Given the description of an element on the screen output the (x, y) to click on. 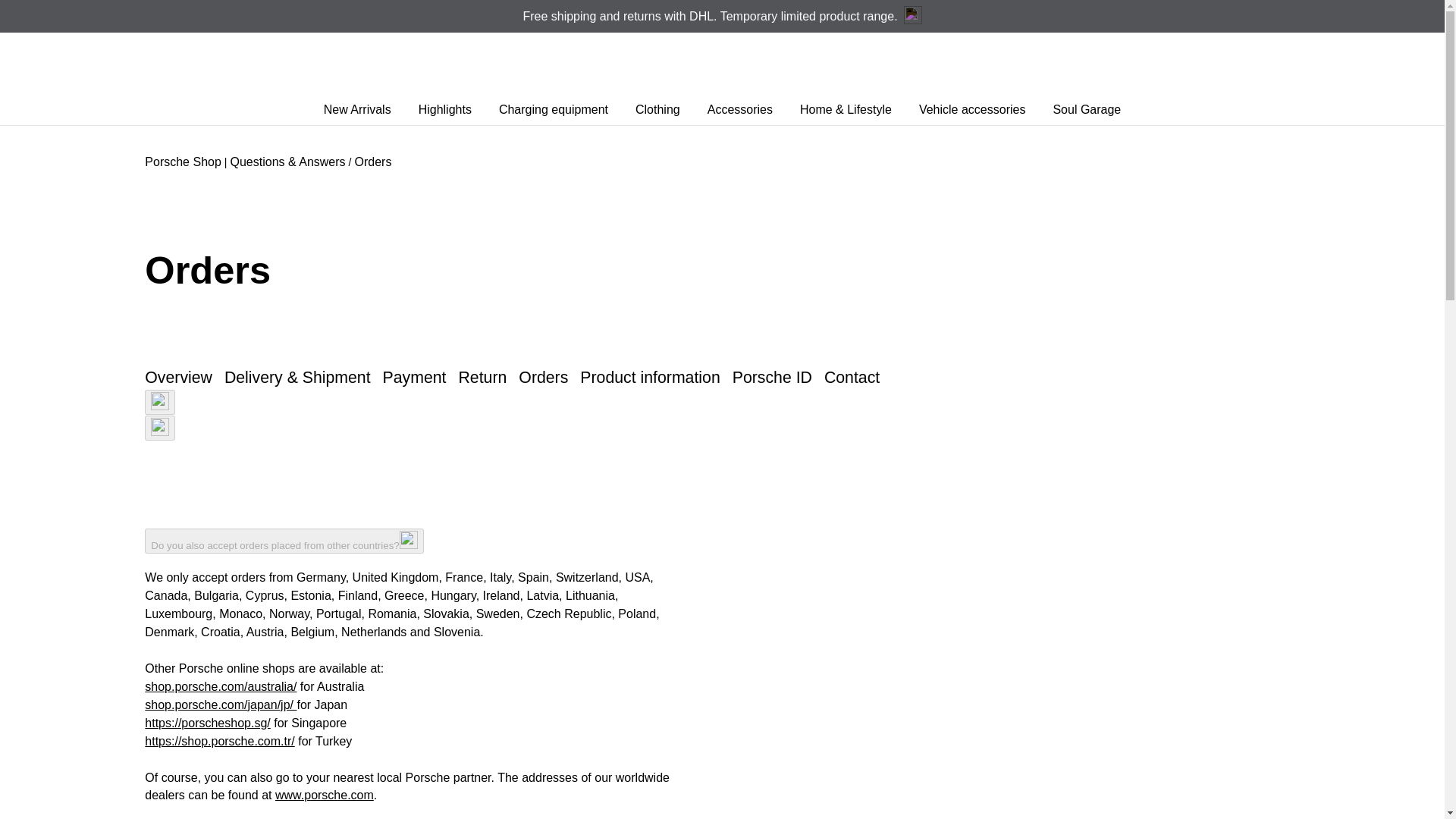
New Arrivals (357, 110)
Highlights (444, 110)
Charging equipment (553, 110)
Clothing (657, 110)
Accessories (740, 110)
